Given the description of an element on the screen output the (x, y) to click on. 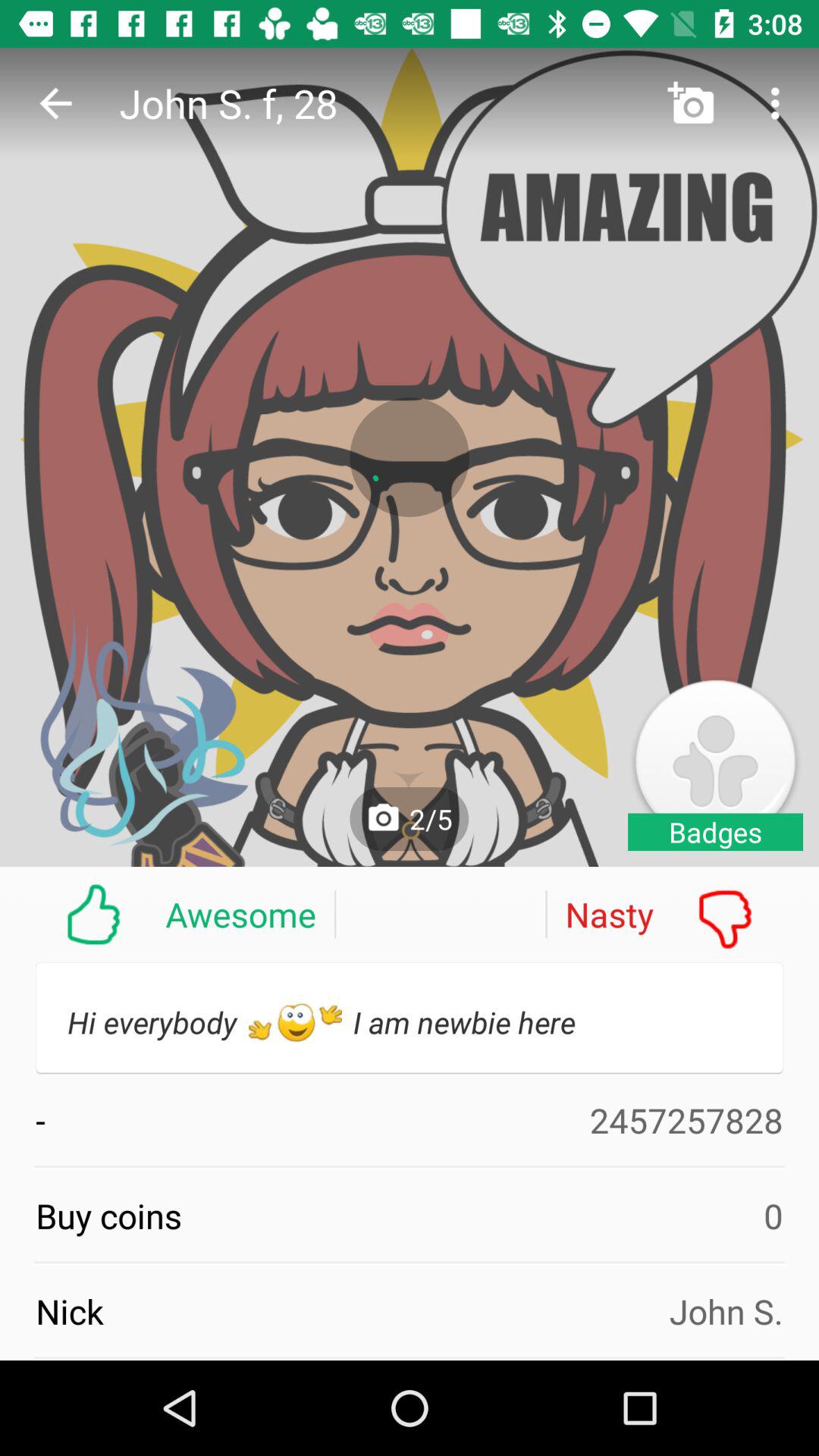
click on more button (779, 103)
click on the text below awesome and nasty (409, 1018)
